Given the description of an element on the screen output the (x, y) to click on. 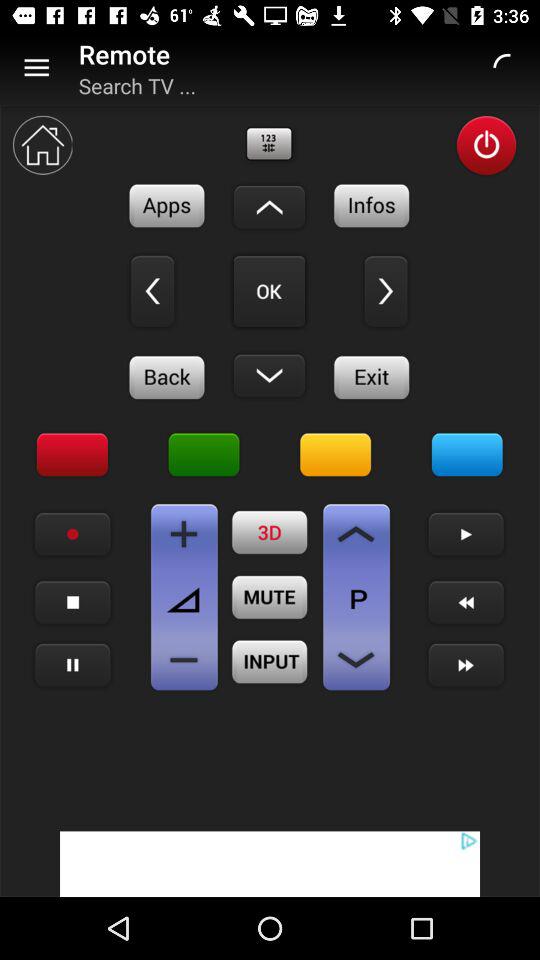
next arrow option (466, 534)
